Given the description of an element on the screen output the (x, y) to click on. 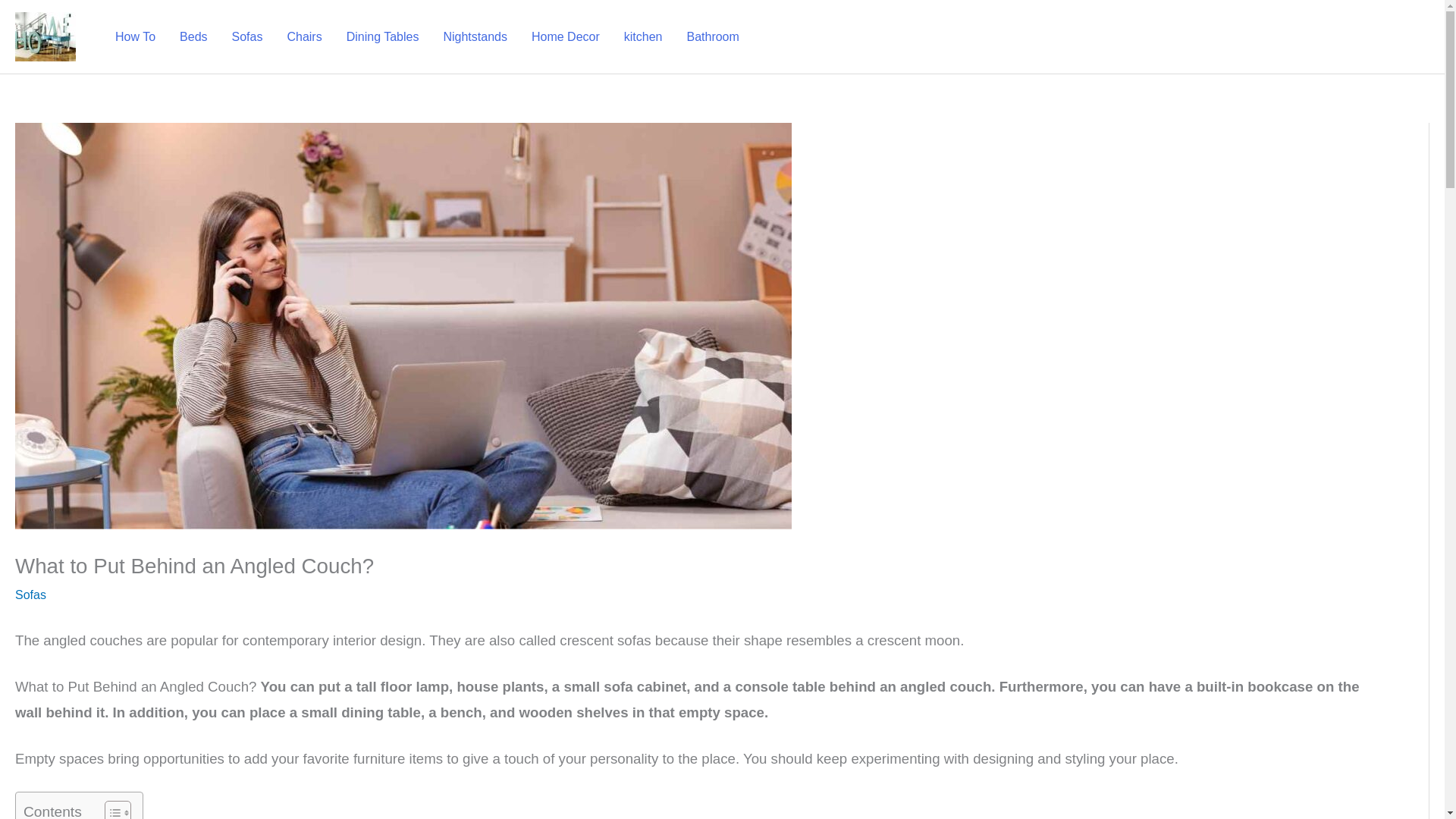
Chairs (304, 36)
Nightstands (474, 36)
Sofas (247, 36)
How To (135, 36)
Dining Tables (382, 36)
Home Decor (565, 36)
Sofas (30, 594)
Bathroom (712, 36)
kitchen (643, 36)
Beds (193, 36)
